Given the description of an element on the screen output the (x, y) to click on. 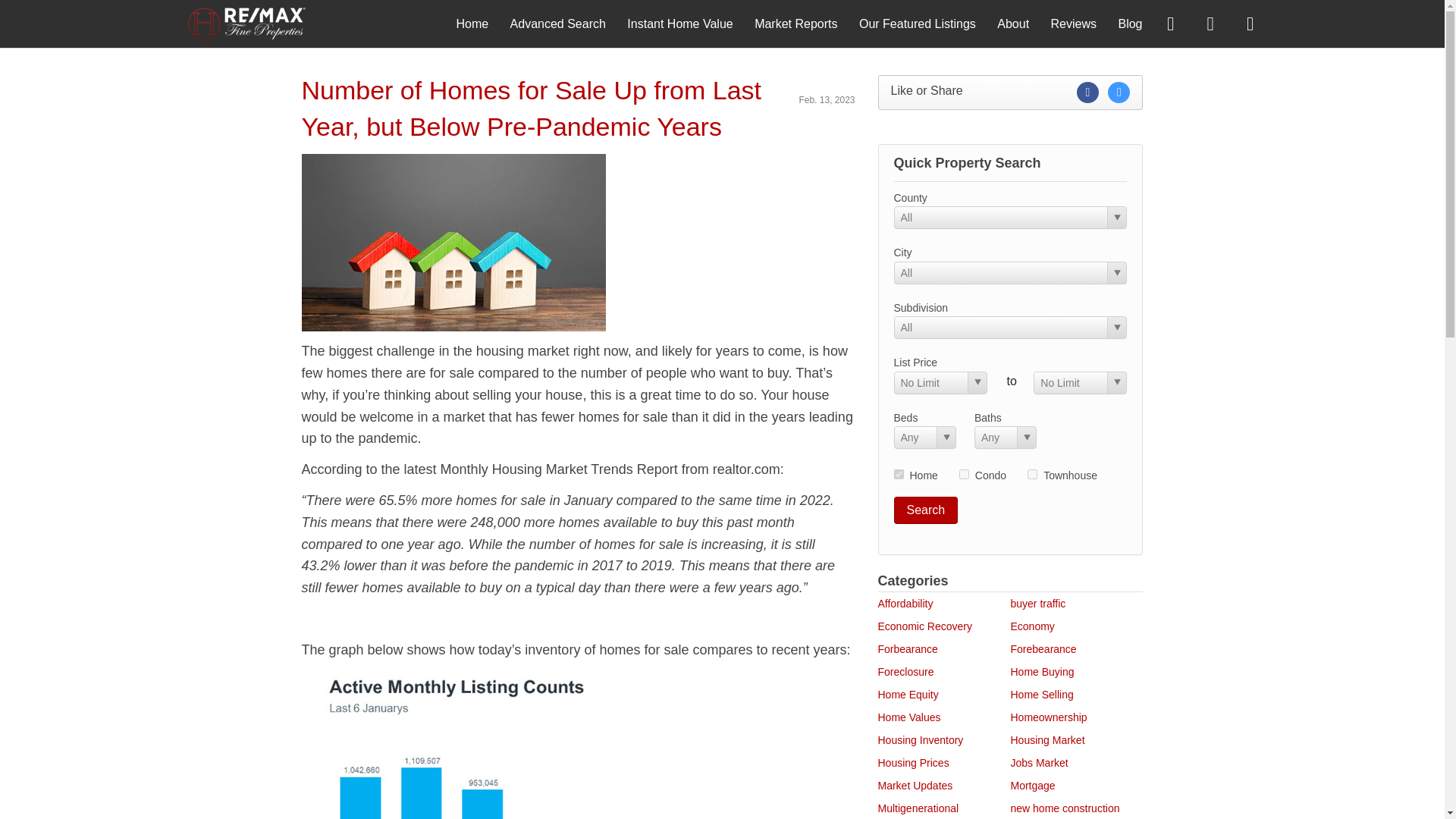
Home Selling (1041, 694)
Home (471, 23)
res (897, 474)
Search (925, 510)
Home Buying (1042, 671)
About (1013, 23)
Market Reports (795, 23)
Blog (1129, 23)
Like or Share (1009, 92)
Economy (1032, 625)
Our Featured Listings (917, 23)
Affordability (905, 603)
Forbearance (907, 648)
Home Equity (908, 694)
